Given the description of an element on the screen output the (x, y) to click on. 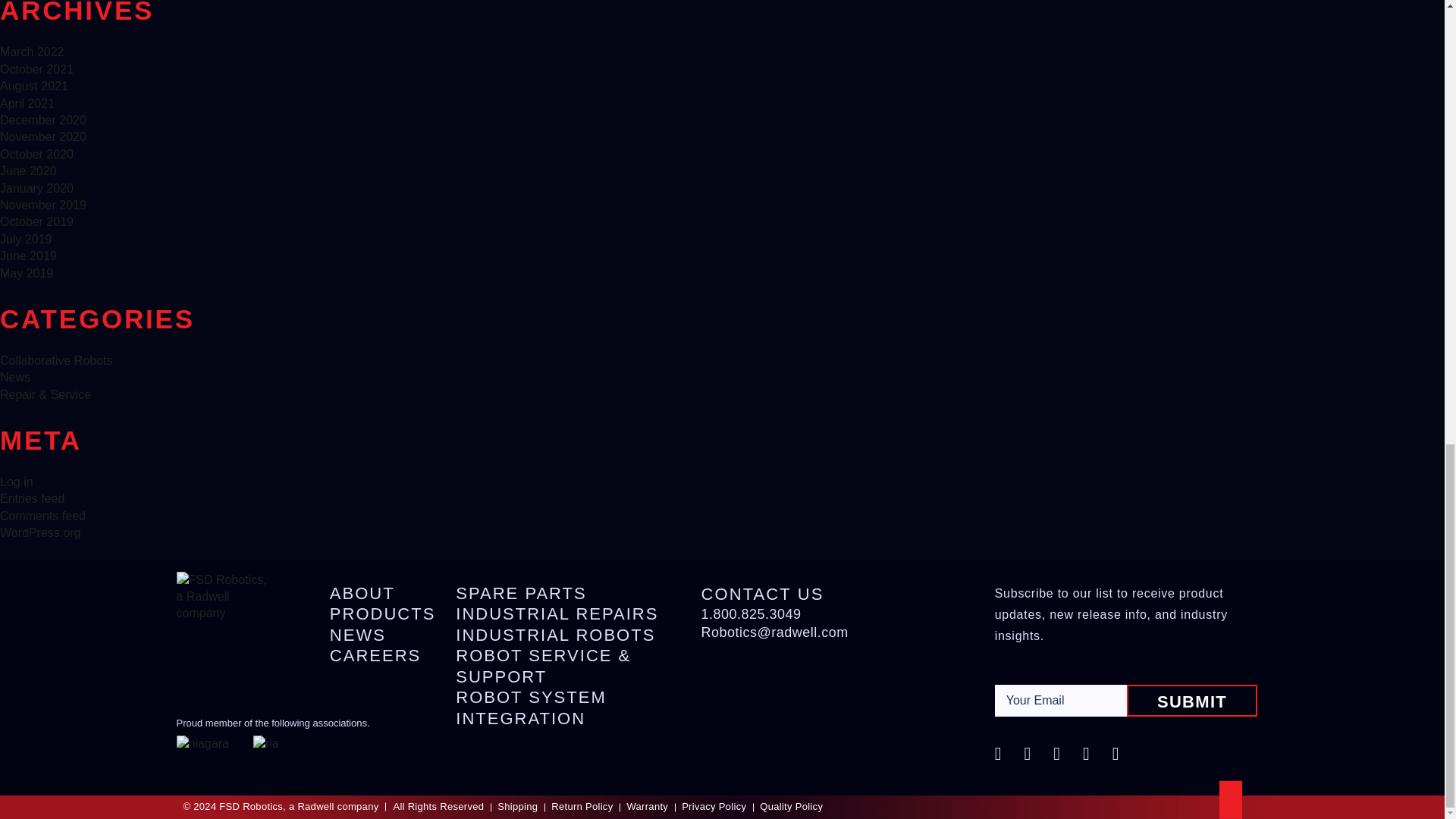
Submit (1191, 700)
October 2021 (37, 69)
June 2020 (28, 170)
March 2022 (32, 51)
November 2020 (42, 136)
FSD Robotics, a Radwell company (221, 593)
Products (382, 613)
October 2020 (37, 154)
December 2020 (42, 119)
August 2021 (34, 85)
